Given the description of an element on the screen output the (x, y) to click on. 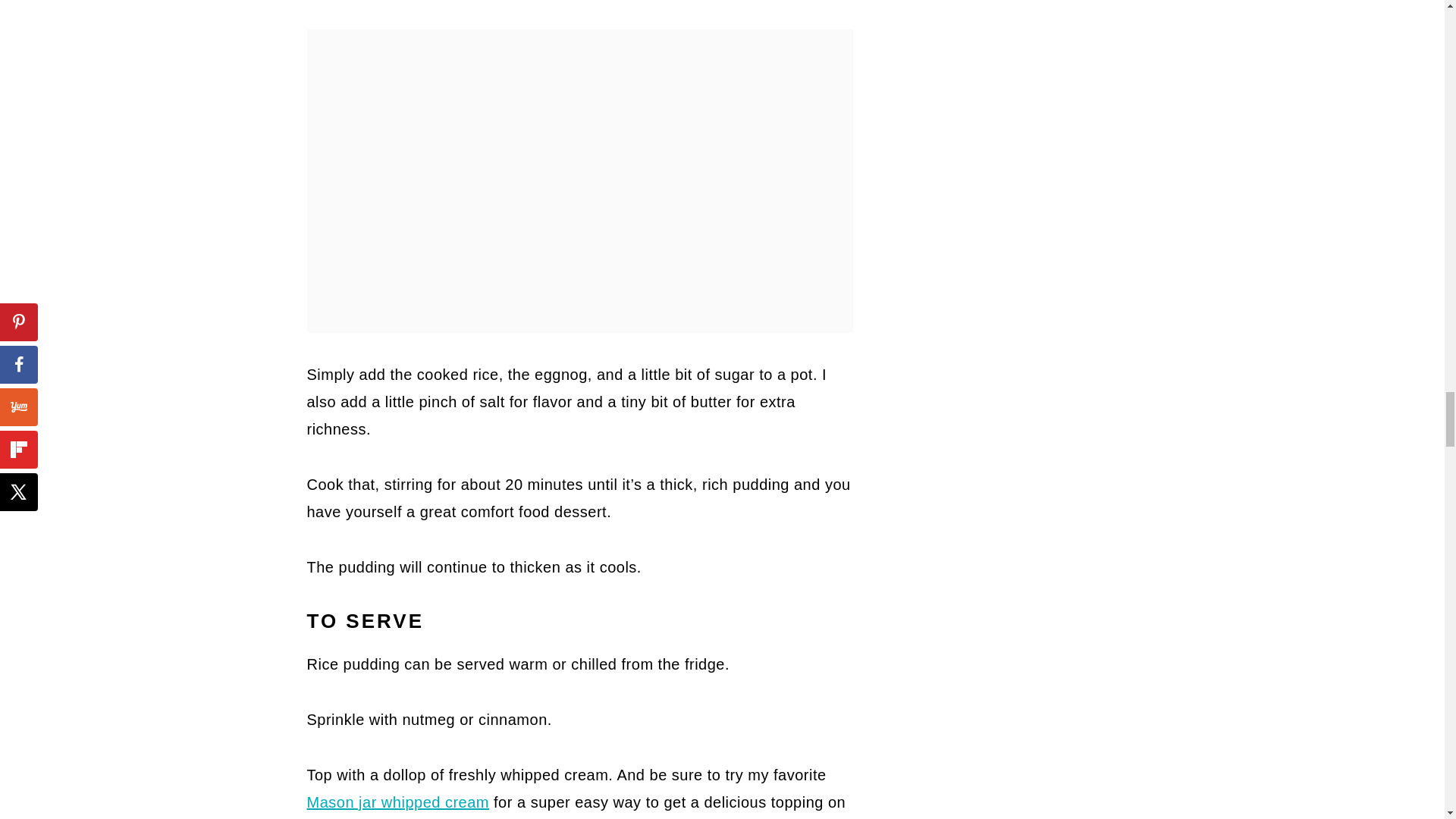
Mason jar whipped cream (397, 801)
